Given the description of an element on the screen output the (x, y) to click on. 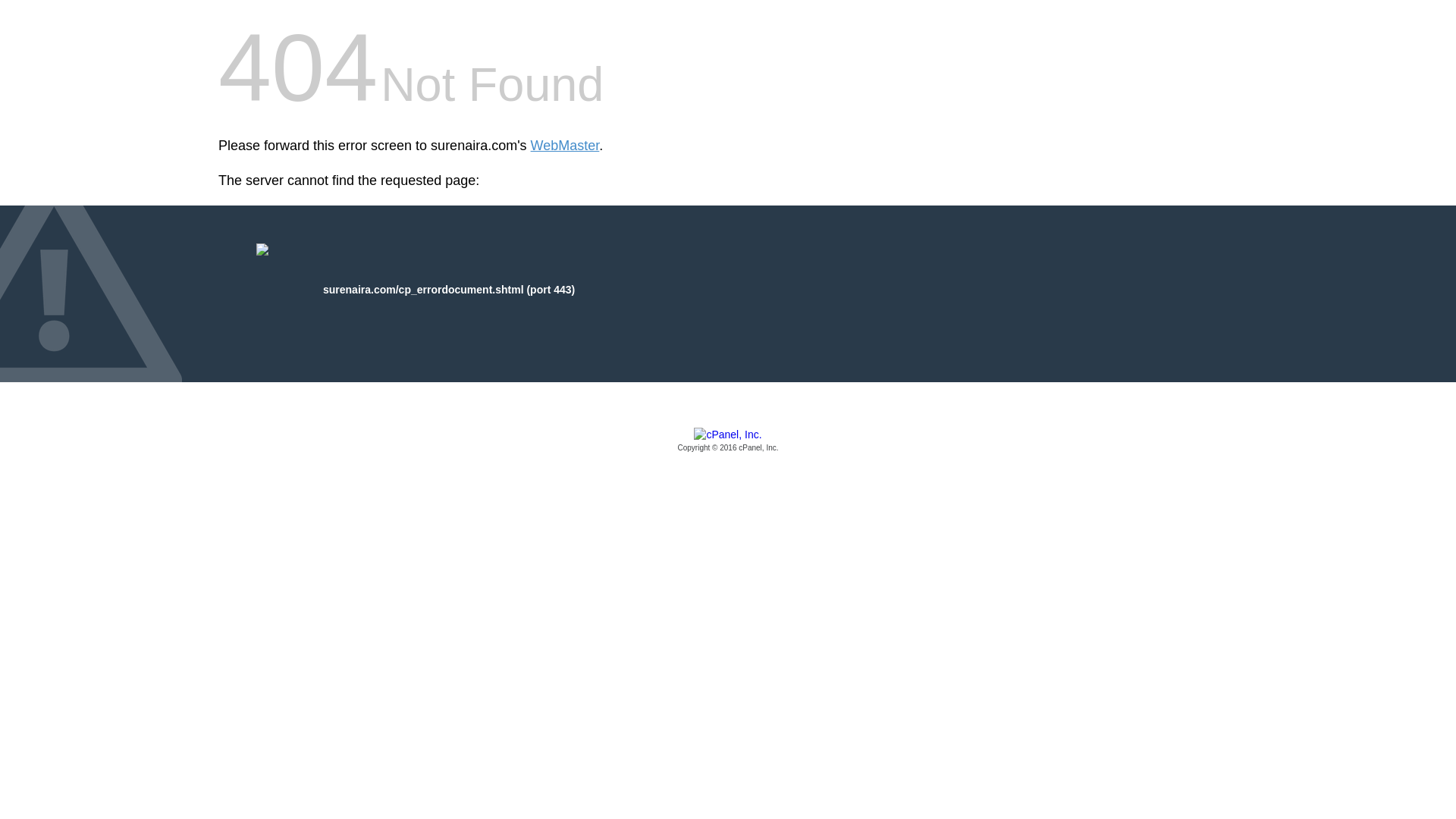
WebMaster (565, 145)
cPanel, Inc. (727, 440)
